Given the description of an element on the screen output the (x, y) to click on. 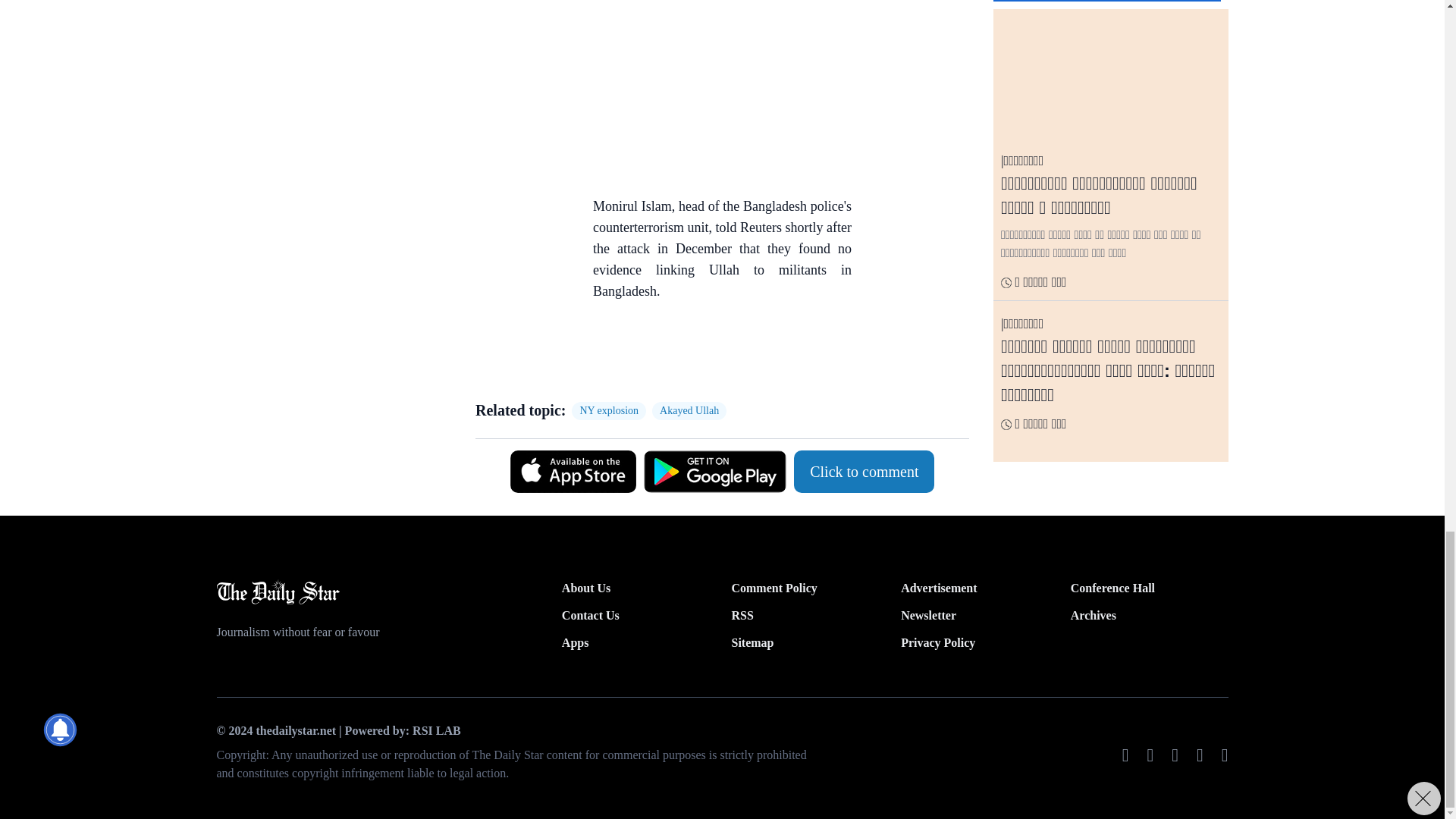
3rd party ad content (714, 352)
3rd party ad content (713, 90)
